Given the description of an element on the screen output the (x, y) to click on. 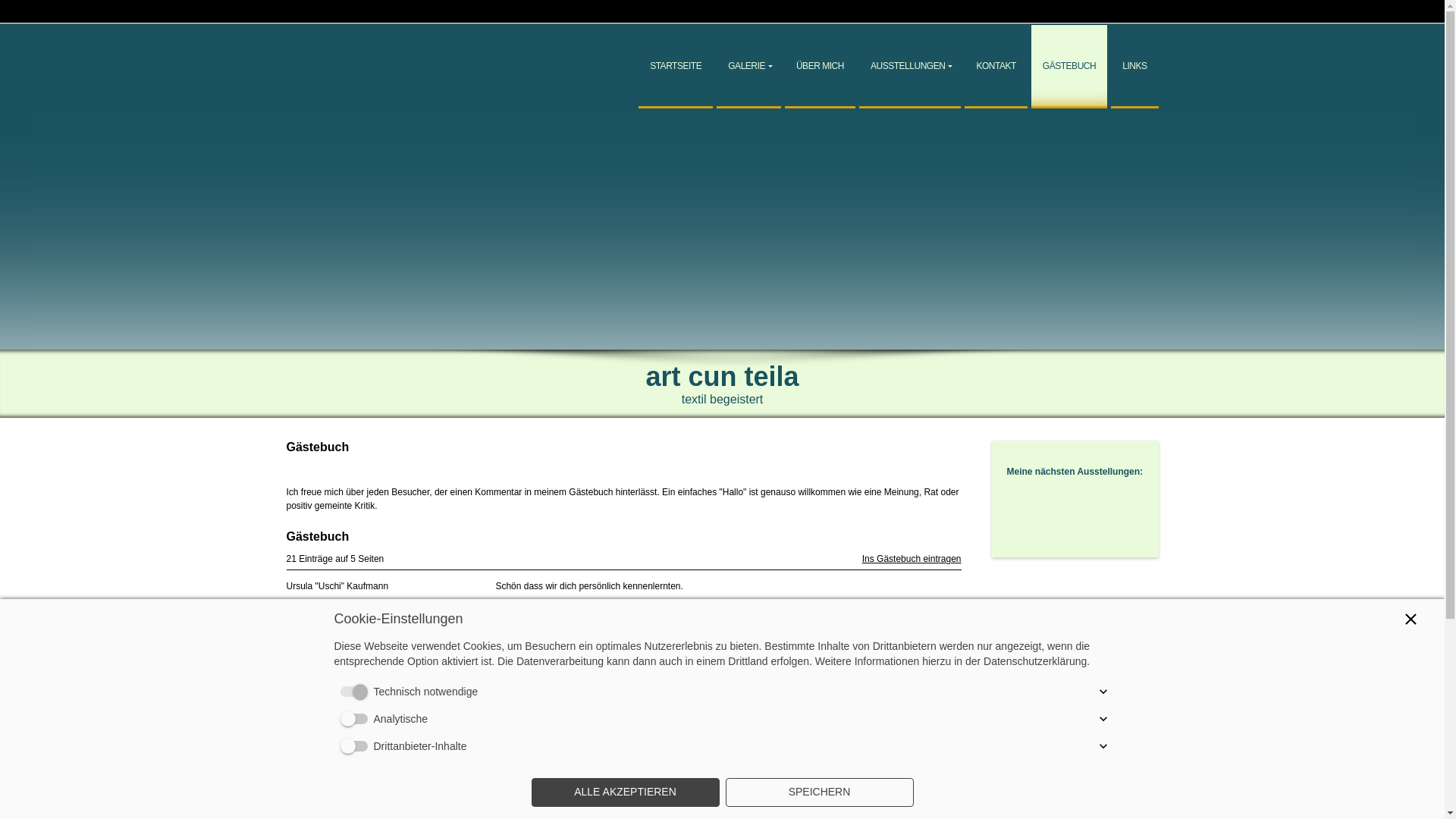
GALERIE Element type: text (748, 66)
LINKS Element type: text (1133, 66)
ALLE AKZEPTIEREN Element type: text (624, 792)
KONTAKT Element type: text (995, 66)
STARTSEITE Element type: text (675, 66)
SPEICHERN Element type: text (818, 792)
AUSSTELLUNGEN Element type: text (909, 66)
